Given the description of an element on the screen output the (x, y) to click on. 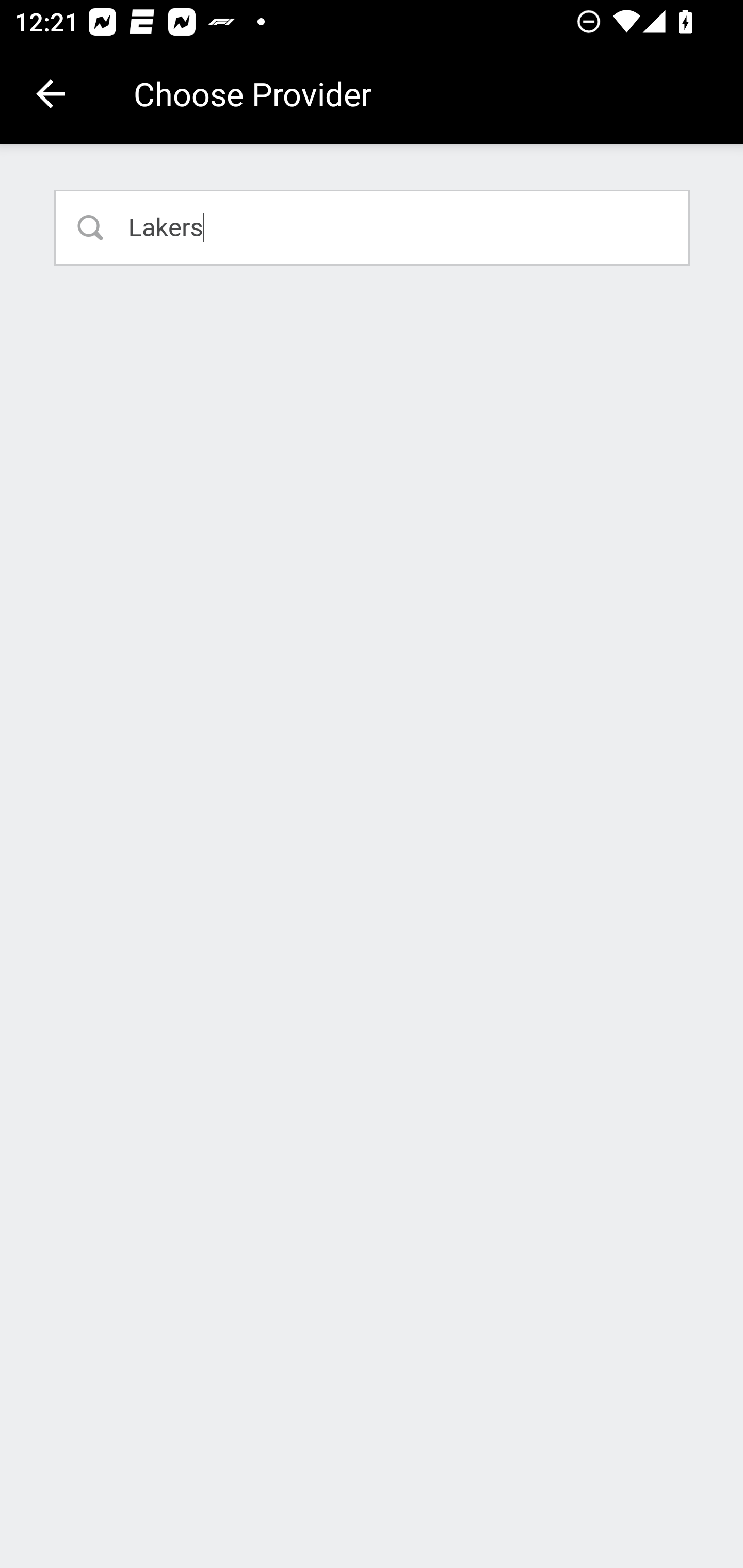
Navigate up (50, 93)
Lakers (372, 227)
